Given the description of an element on the screen output the (x, y) to click on. 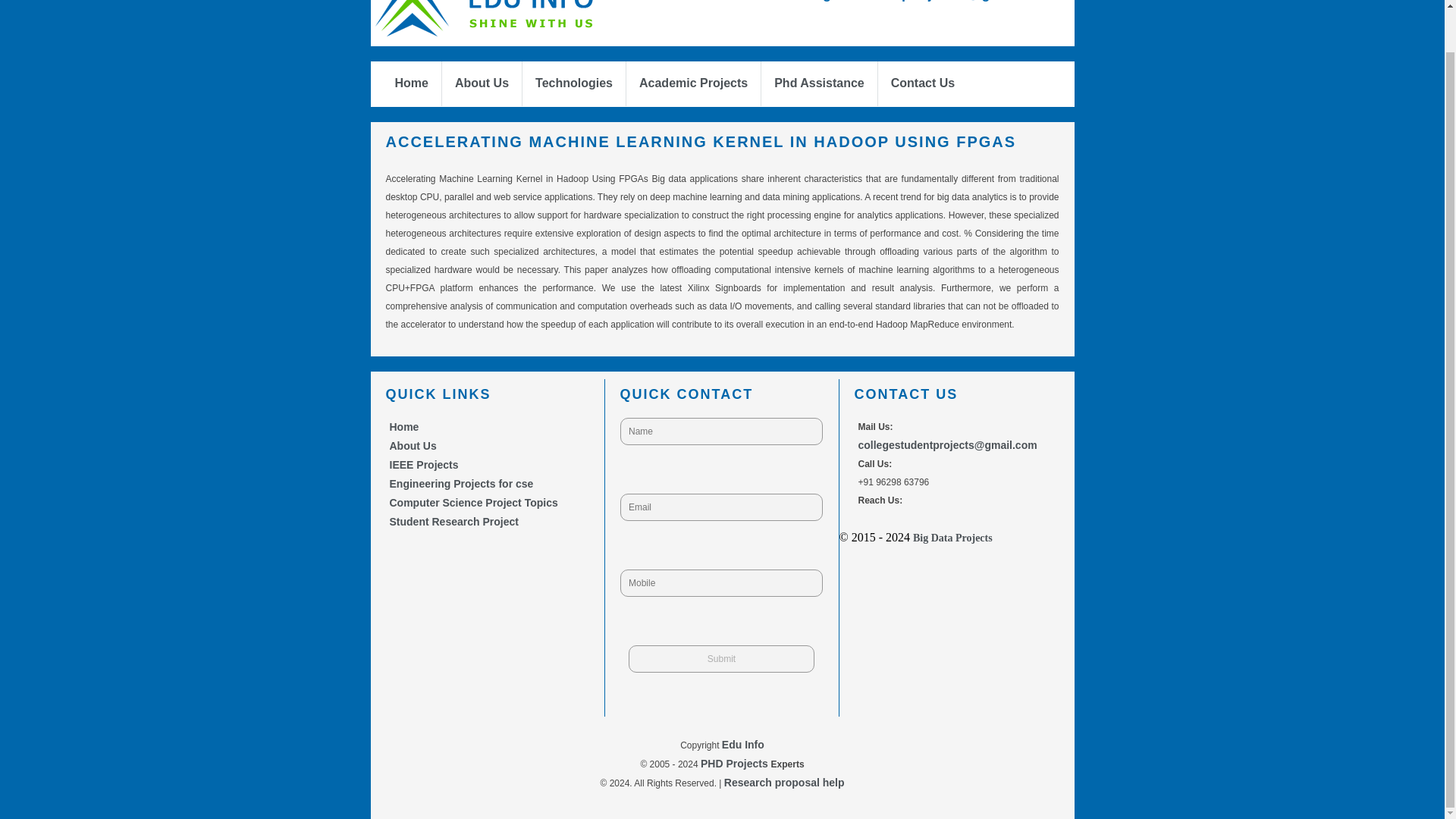
Contact Us (923, 82)
Academic Projects (693, 82)
Computer Science Project Topics (473, 502)
About Us (481, 82)
Home (411, 82)
IEEE Projects (424, 464)
Big Data Projects (952, 537)
Student Research Project (454, 521)
About Us (413, 445)
Technologies (573, 82)
Edu Info (743, 744)
Engineering Projects for cse (462, 483)
Submit (720, 658)
Submit (720, 658)
Home (404, 426)
